Given the description of an element on the screen output the (x, y) to click on. 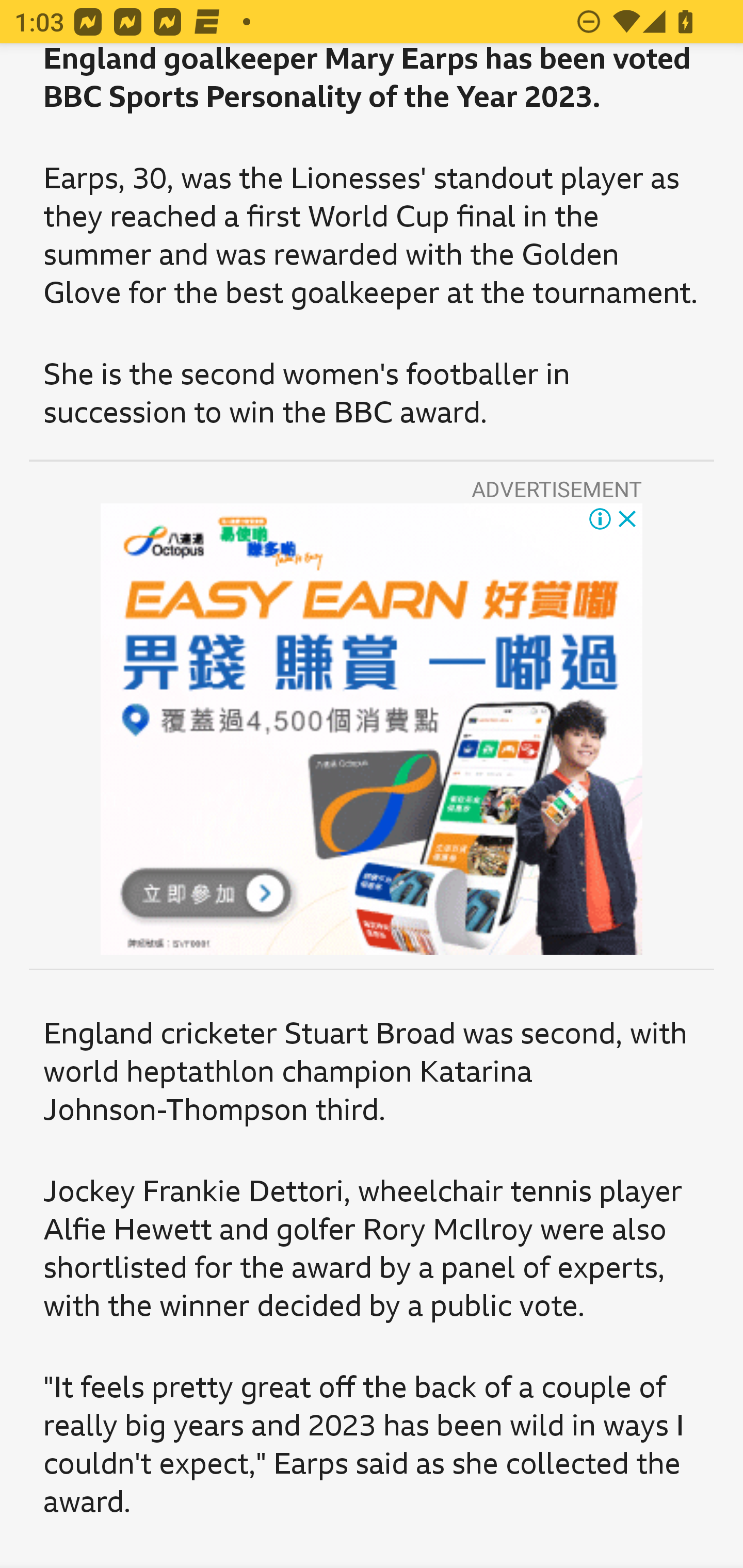
Advertisement (371, 728)
